Given the description of an element on the screen output the (x, y) to click on. 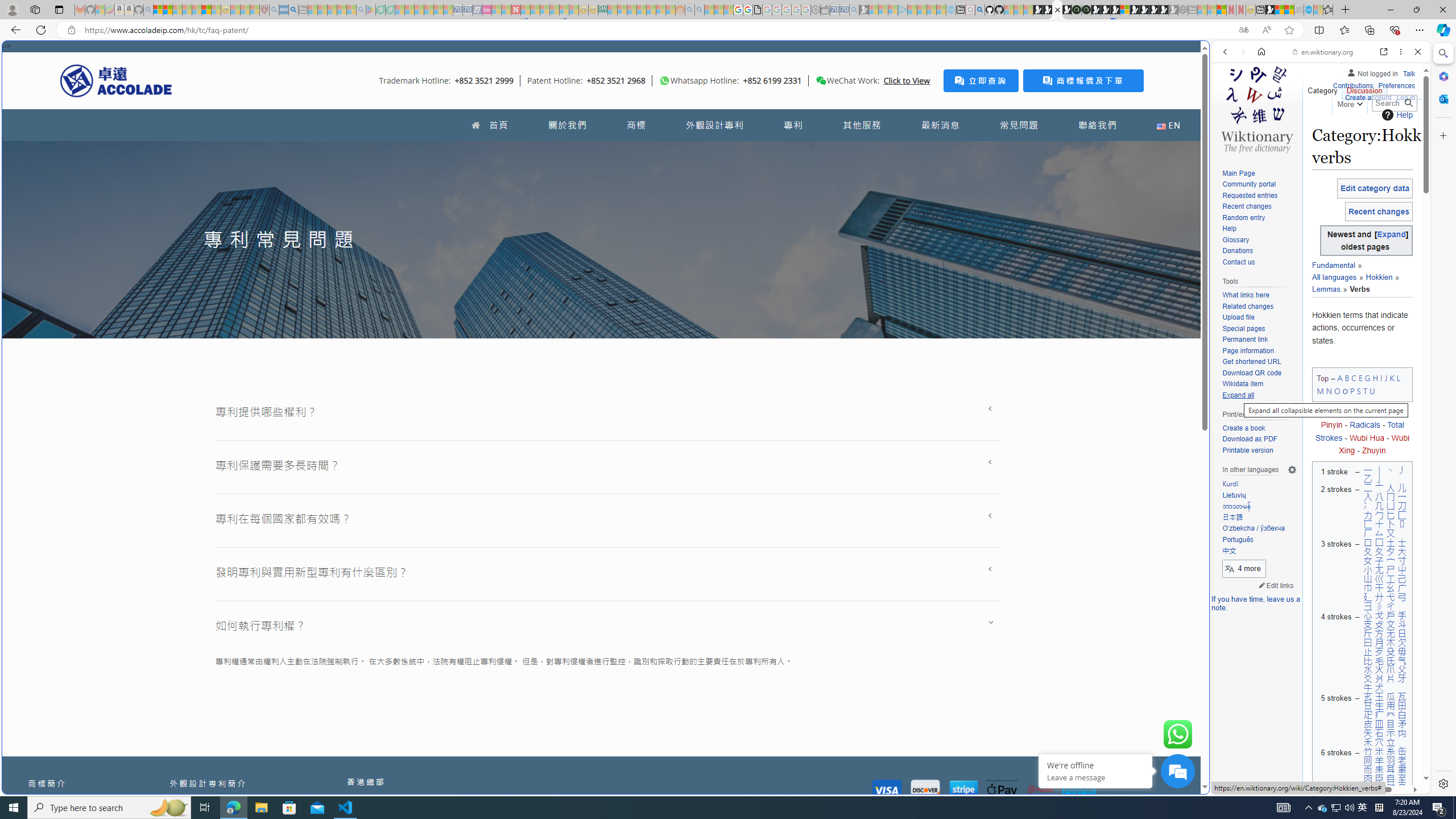
Create a book (1259, 428)
Printable version (1247, 449)
